Given the description of an element on the screen output the (x, y) to click on. 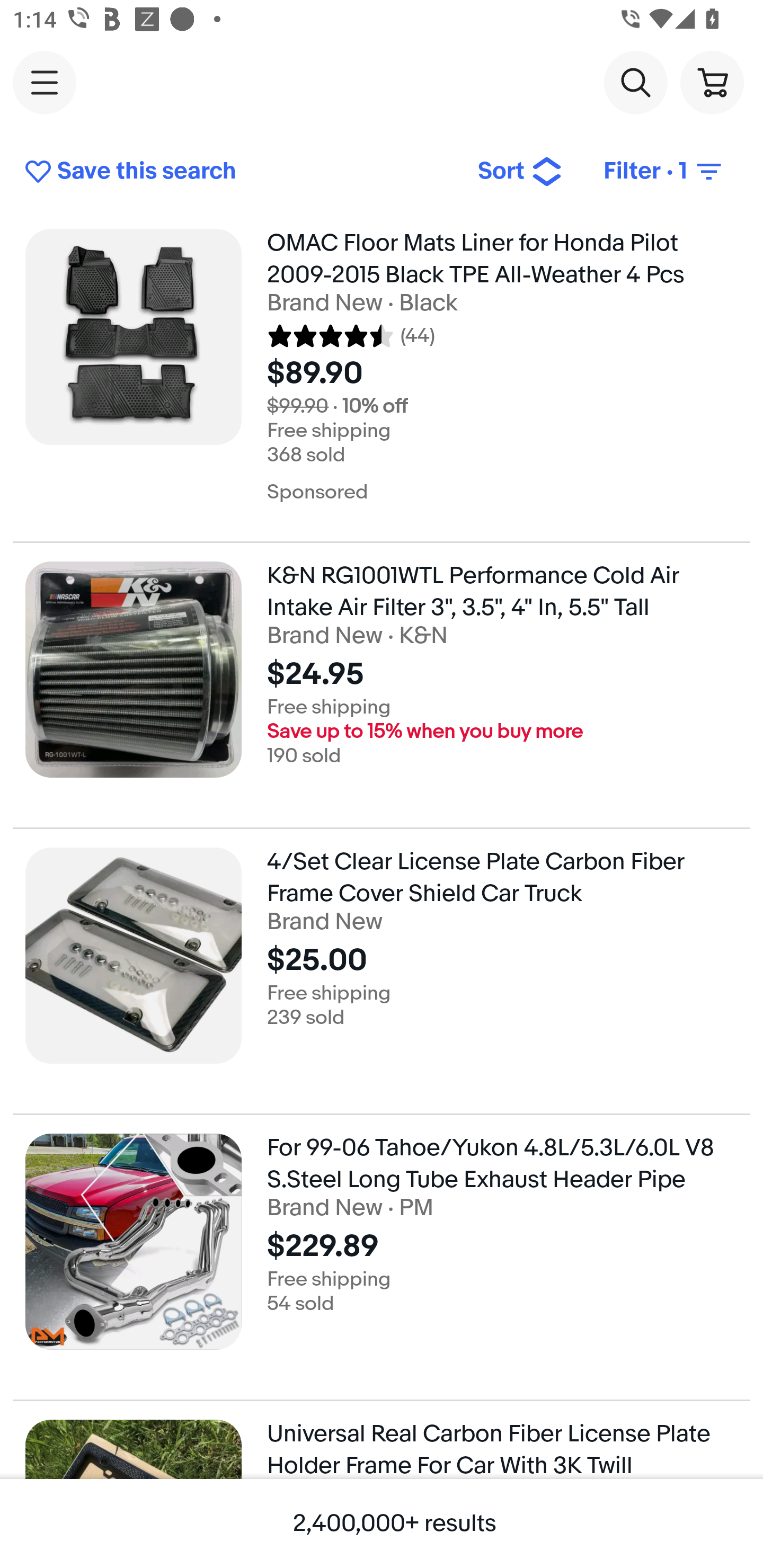
Main navigation, open (44, 82)
Search (635, 81)
Cart button shopping cart (711, 81)
Save this search (237, 171)
Sort (520, 171)
Filter • 1 Filter (1 applied) (663, 171)
